Given the description of an element on the screen output the (x, y) to click on. 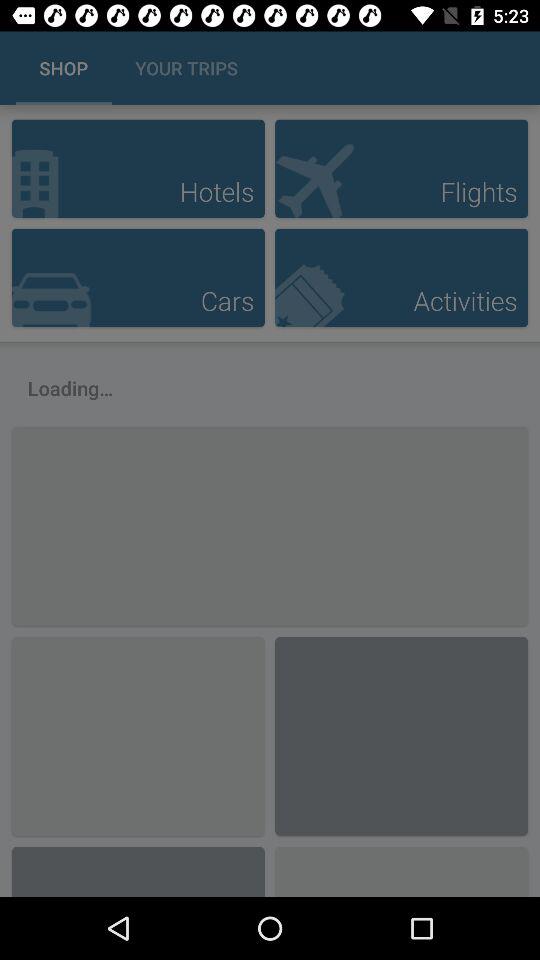
activities (401, 277)
